Given the description of an element on the screen output the (x, y) to click on. 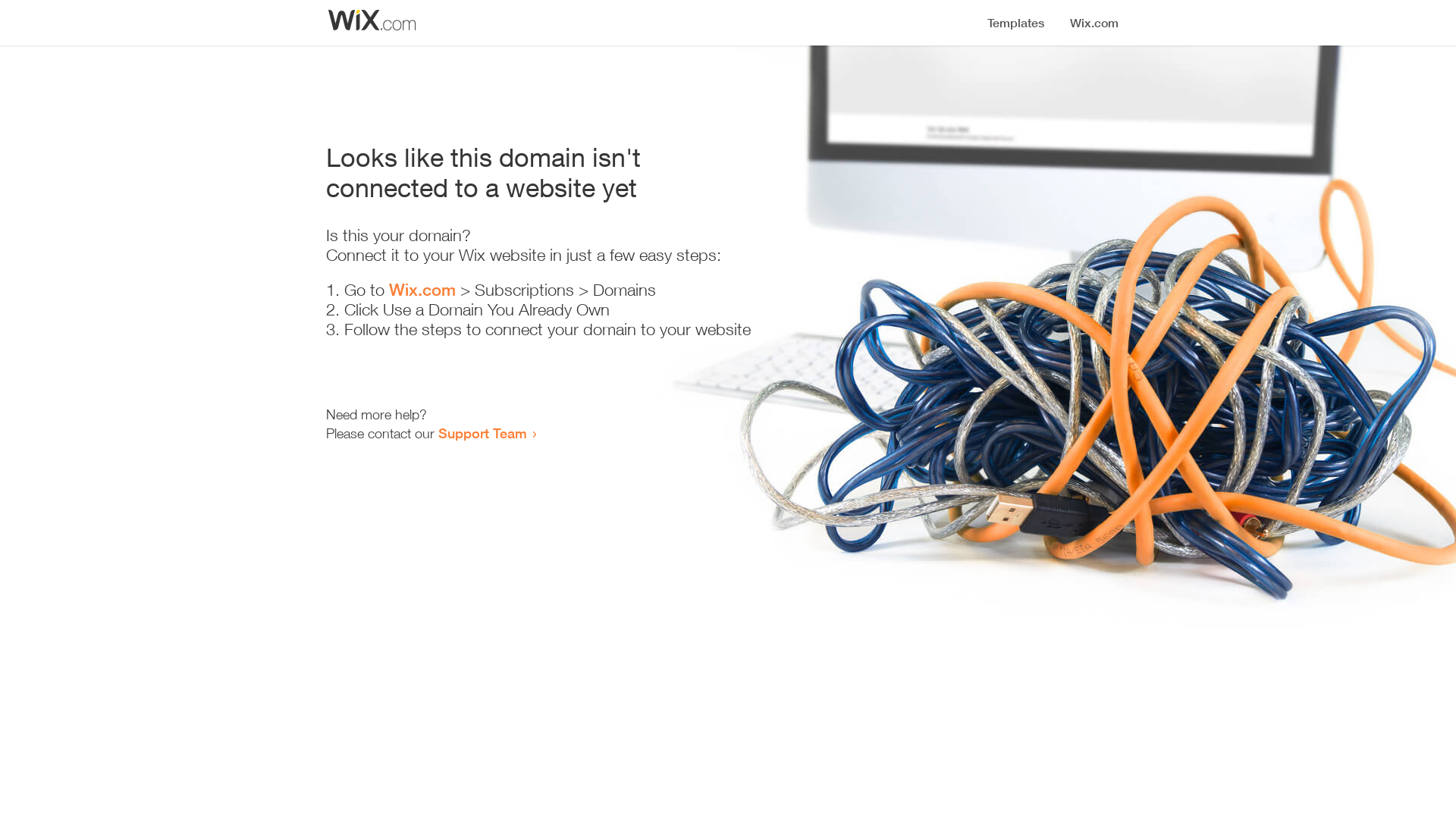
Support Team Element type: text (482, 432)
Wix.com Element type: text (422, 289)
